Given the description of an element on the screen output the (x, y) to click on. 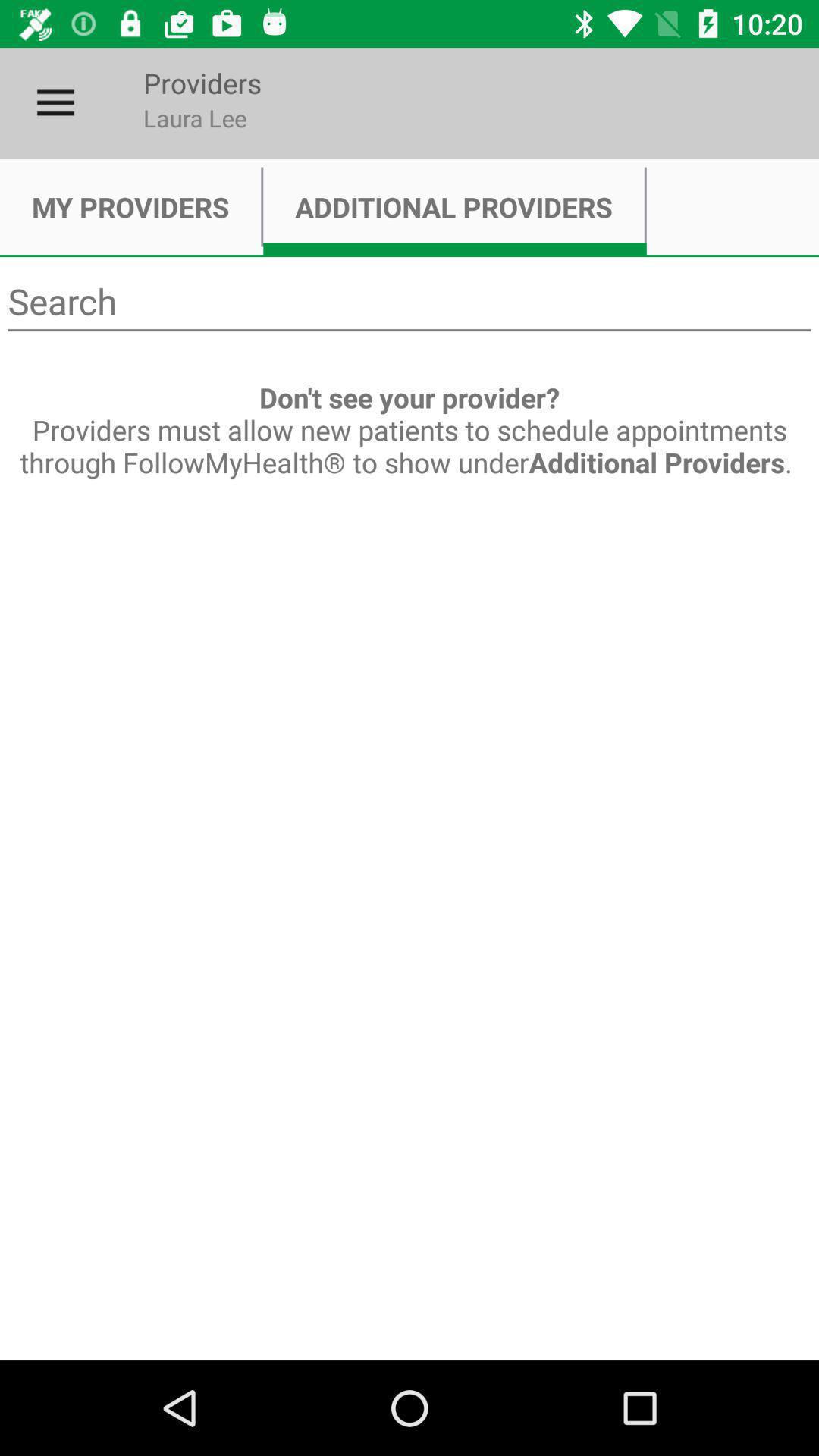
turn off item to the left of the providers (55, 103)
